Given the description of an element on the screen output the (x, y) to click on. 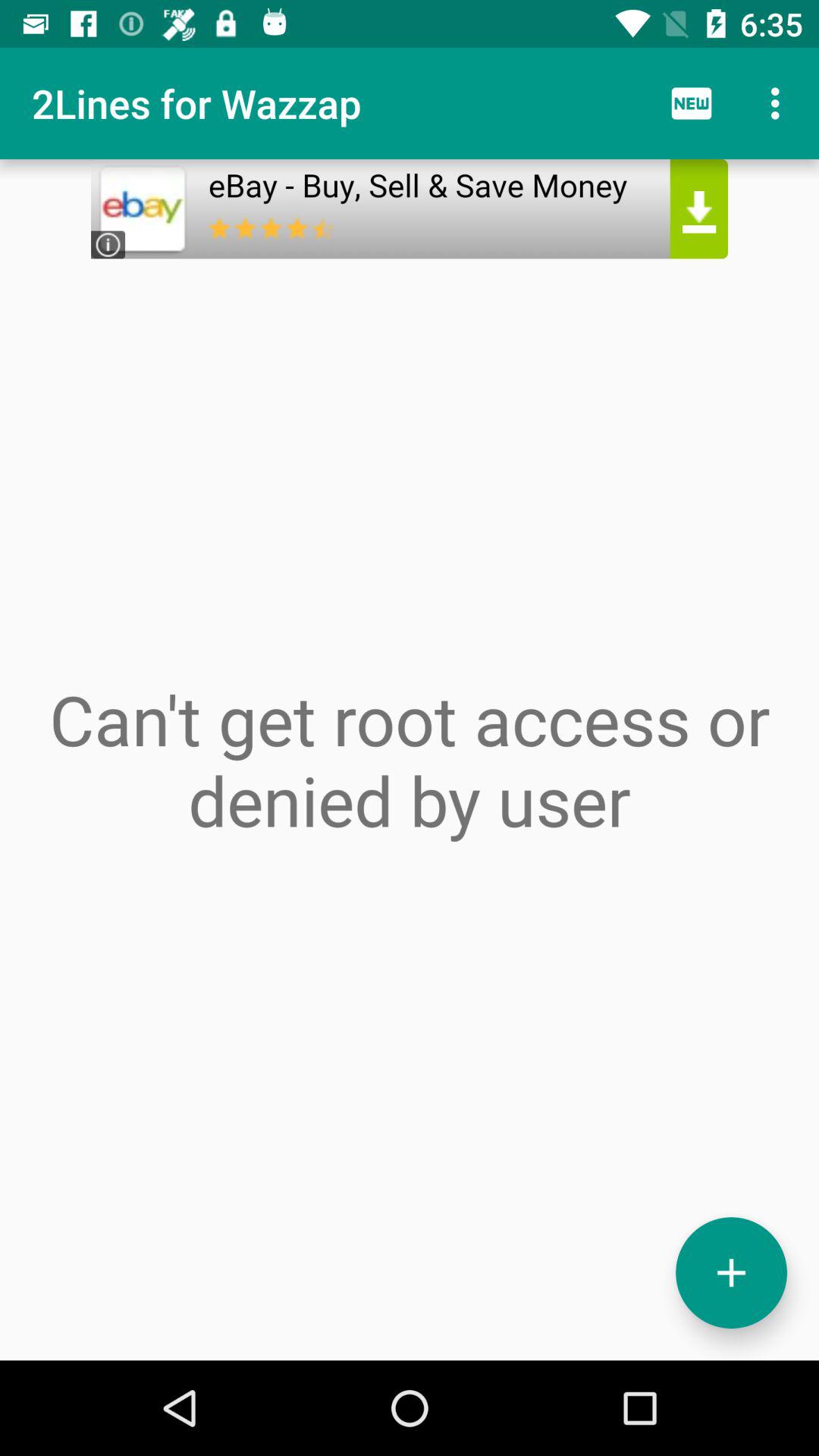
launch item at the bottom right corner (731, 1272)
